Given the description of an element on the screen output the (x, y) to click on. 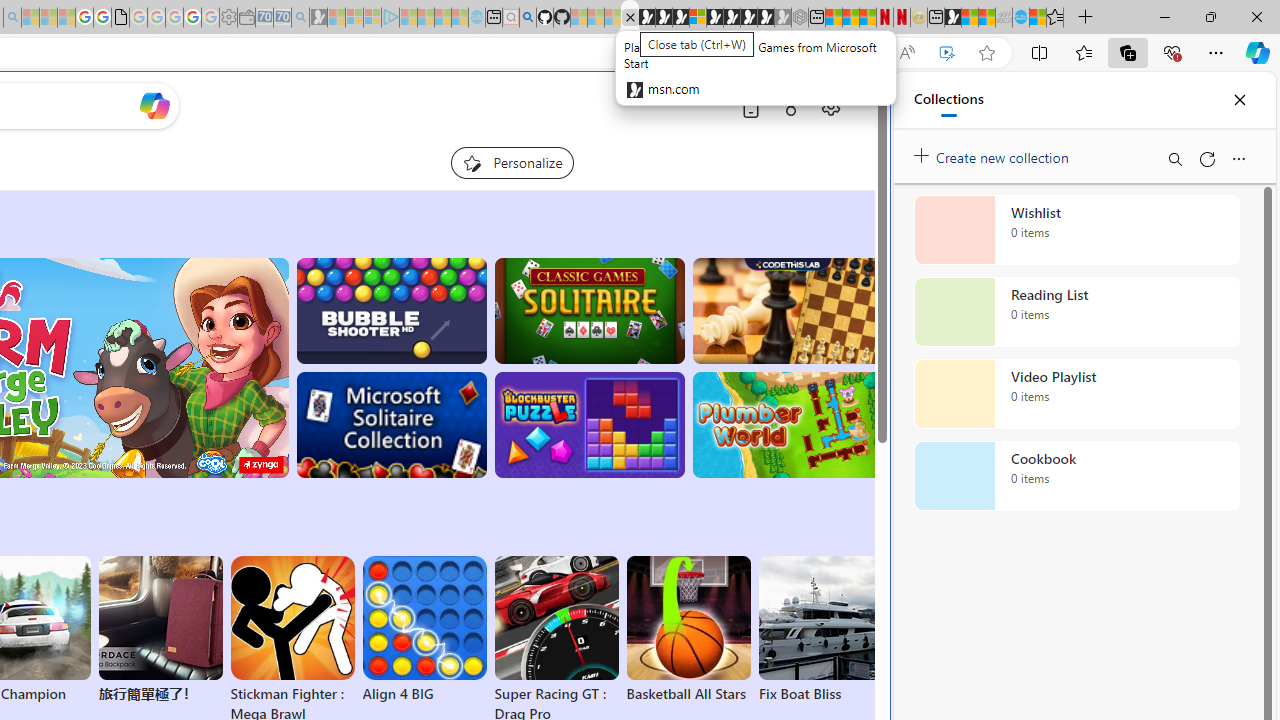
Bubble Shooter HD (390, 310)
Earth has six continents not seven, radical new study claims (986, 17)
